Given the description of an element on the screen output the (x, y) to click on. 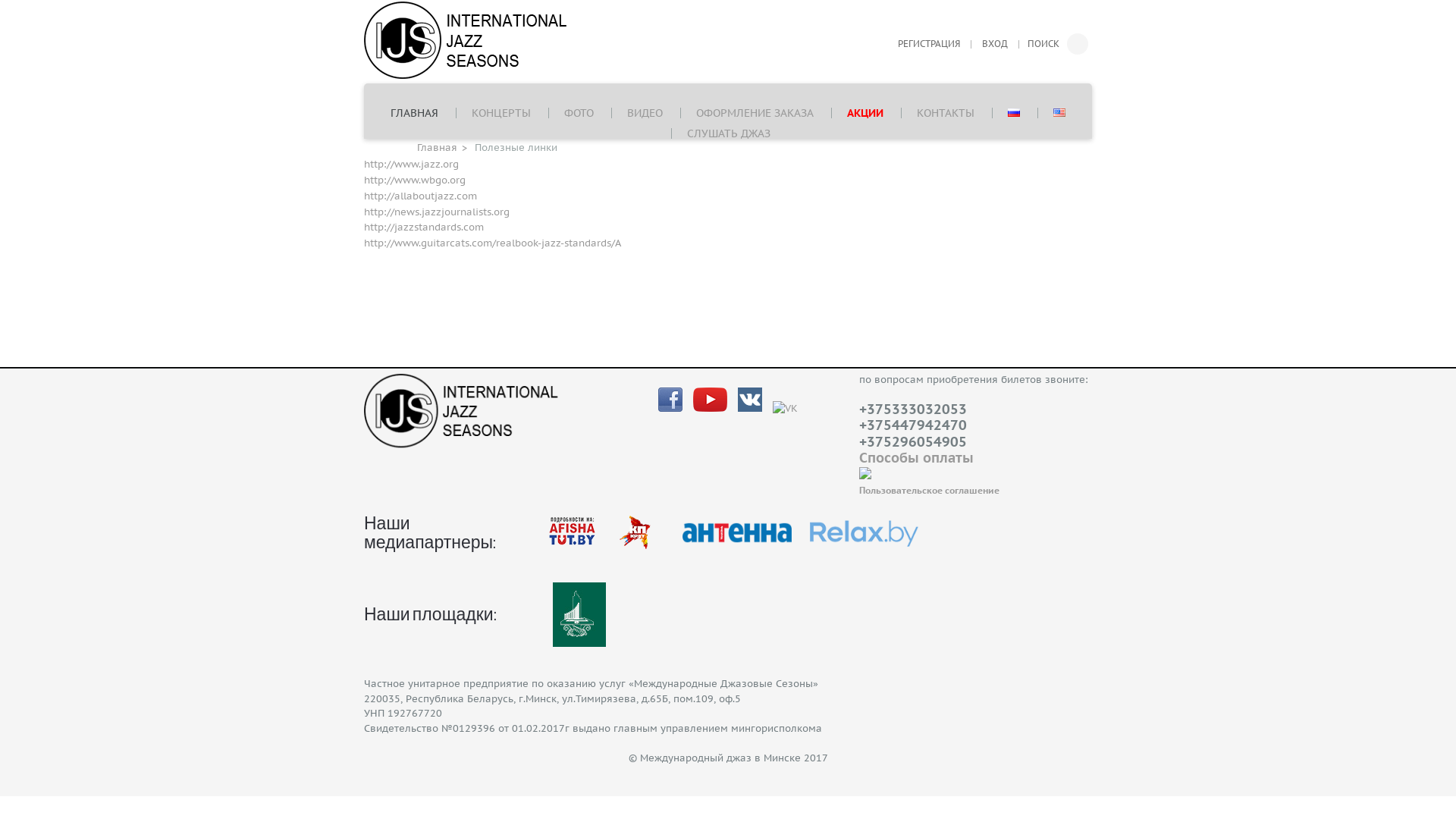
http://news.jazzjournalists.org Element type: text (436, 211)
English Element type: hover (1059, 112)
http://jazzstandards.com Element type: text (423, 226)
http://allaboutjazz.com Element type: text (420, 195)
http://www.wbgo.org Element type: text (414, 179)
http://www.guitarcats.com/realbook-jazz-standards/A Element type: text (492, 242)
http://www.jazz.org Element type: text (411, 163)
